Given the description of an element on the screen output the (x, y) to click on. 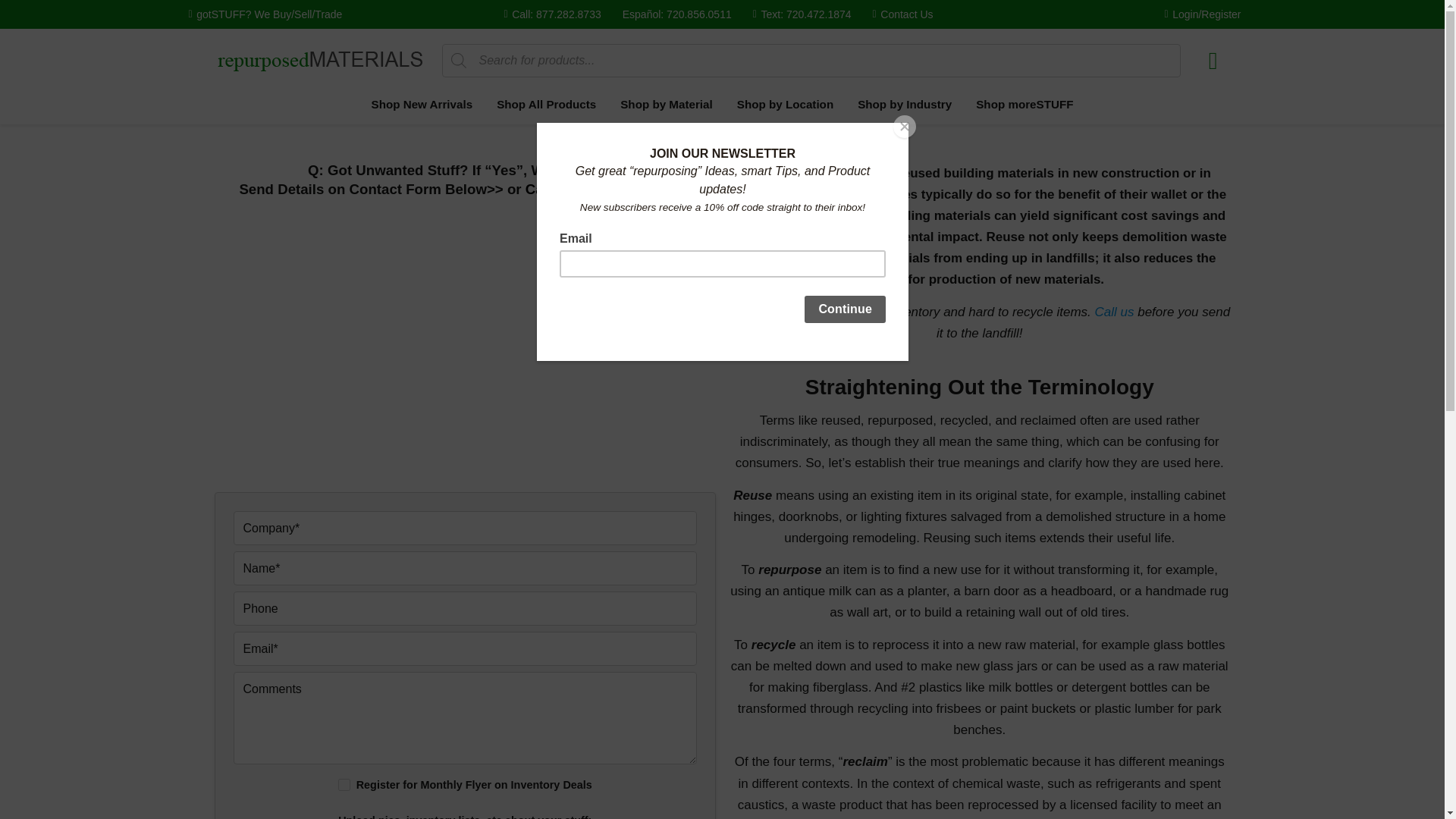
Shop by Material (666, 107)
Call: 877.282.8733 (551, 14)
Shop All Products (546, 107)
Register for Monthly Flyer on Inventory Deals (343, 784)
Shop New Arrivals (421, 107)
Shop by Location (785, 107)
Text: 720.472.1874 (801, 14)
Repurposed Materials (320, 60)
Contact Us (902, 14)
